Given the description of an element on the screen output the (x, y) to click on. 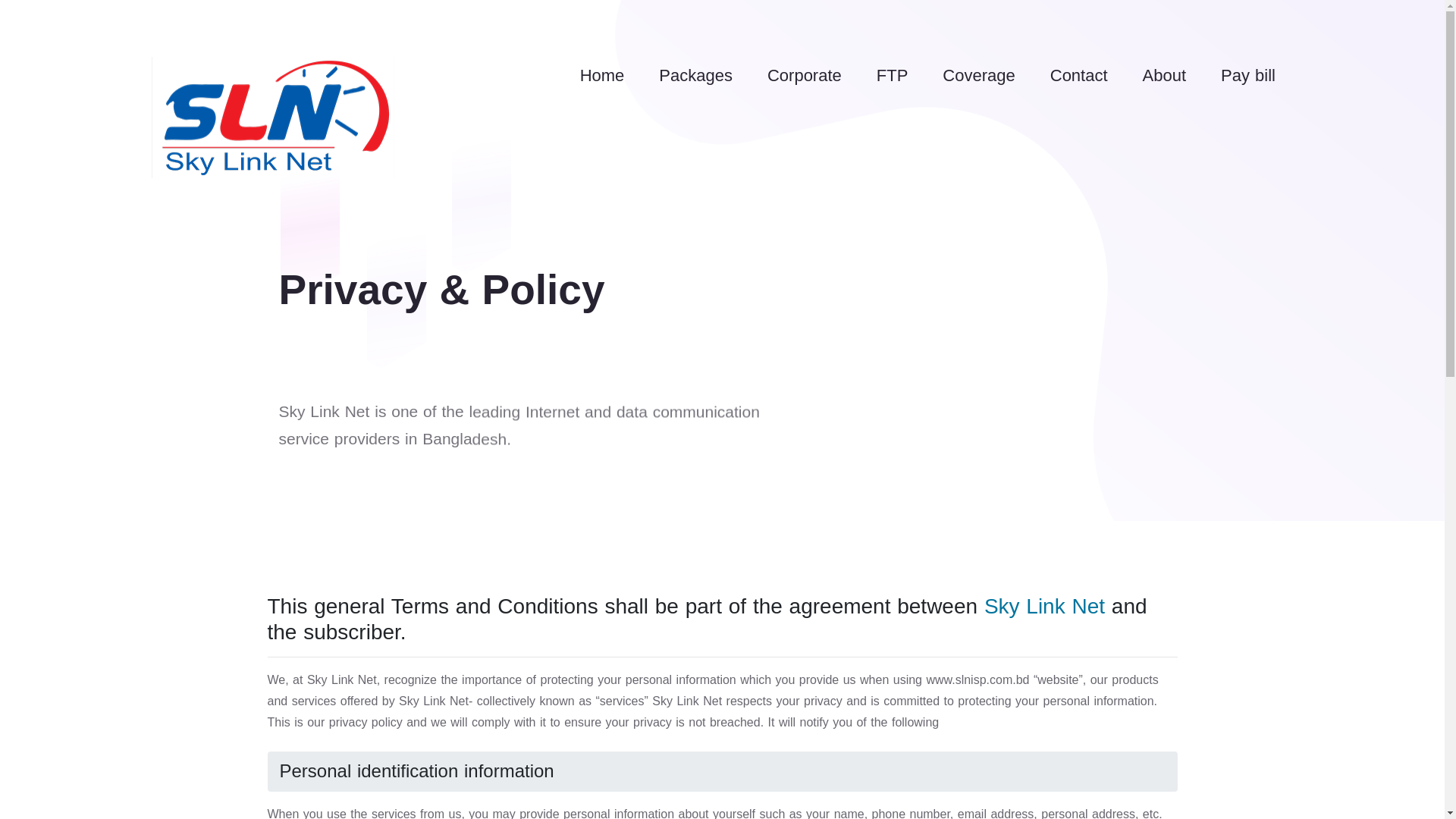
Packages Element type: text (695, 75)
About Element type: text (1164, 75)
Corporate Element type: text (804, 75)
Pay bill Element type: text (1247, 75)
Home Element type: text (602, 75)
FTP Element type: text (892, 75)
Coverage Element type: text (978, 75)
Contact Element type: text (1078, 75)
